Given the description of an element on the screen output the (x, y) to click on. 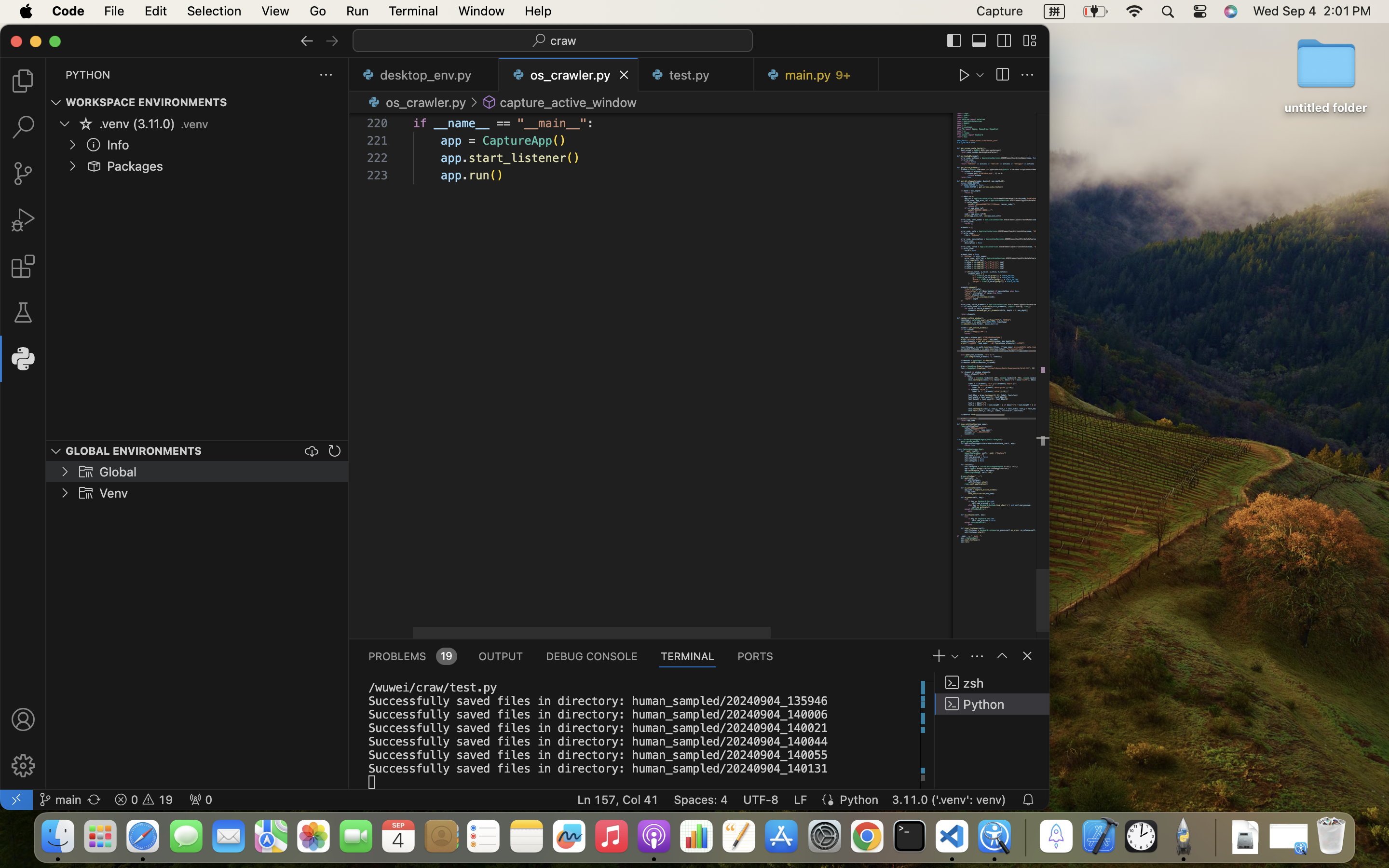
 Element type: AXButton (332, 40)
.venv (3.11.0) Element type: AXStaticText (137, 123)
1 Element type: AXRadioButton (23, 358)
main  Element type: AXButton (59, 799)
 Element type: AXStaticText (93, 144)
